Given the description of an element on the screen output the (x, y) to click on. 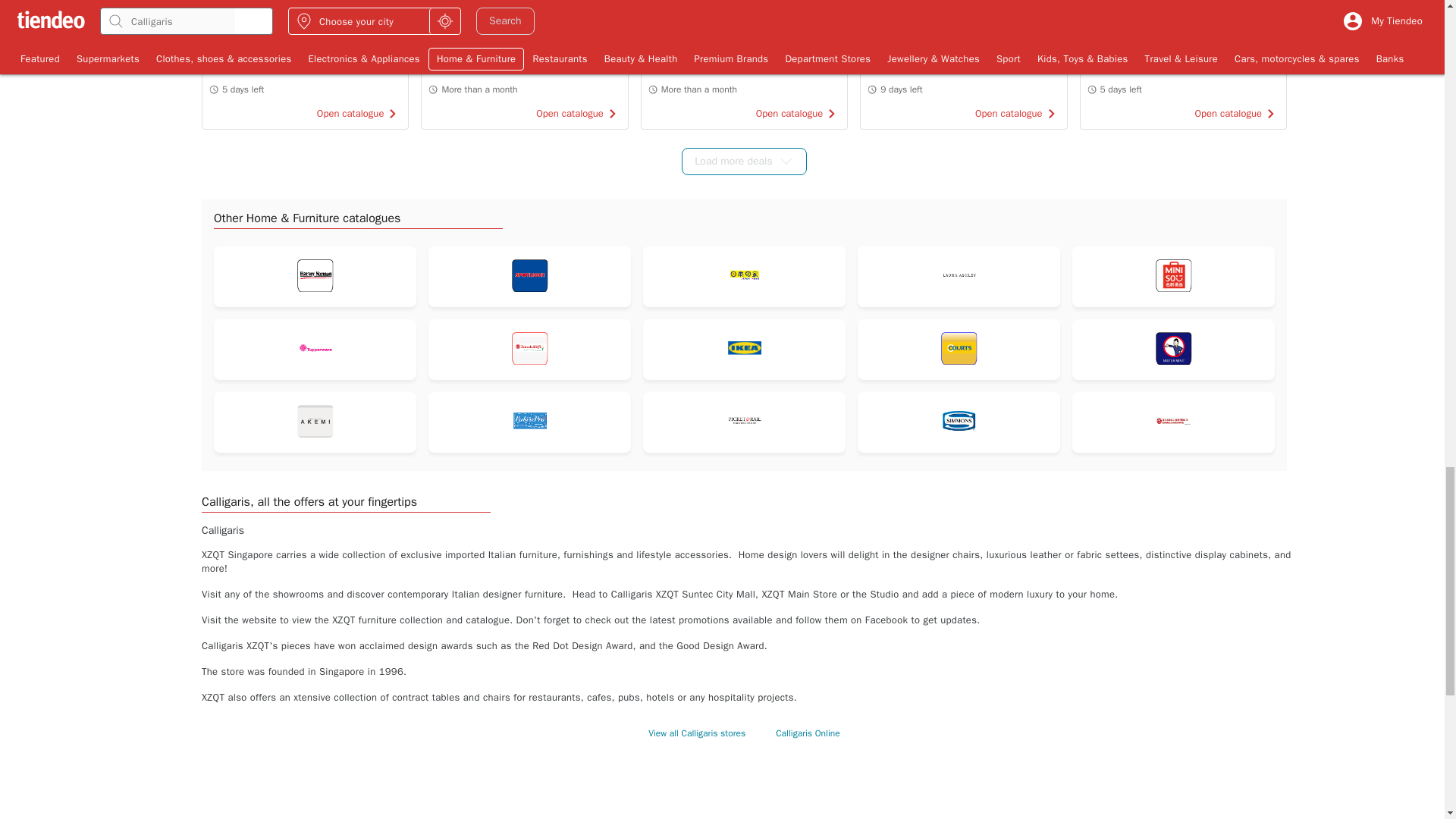
Logo Akemi Home (314, 422)
Logo Japan Home (743, 276)
Logo FabricPro (529, 422)
Logo Courts (959, 349)
Logo Harvey Norman (314, 276)
Logo Spotlight (529, 276)
Logo Simmons (959, 422)
Logo Mister Minit (1173, 349)
Logo Tupperware (314, 349)
Logo Seawalk (1173, 422)
Logo Miniso (1173, 276)
Logo Takashimaya (529, 349)
Logo Laura Ashley (959, 276)
Logo IKEA (743, 349)
